Given the description of an element on the screen output the (x, y) to click on. 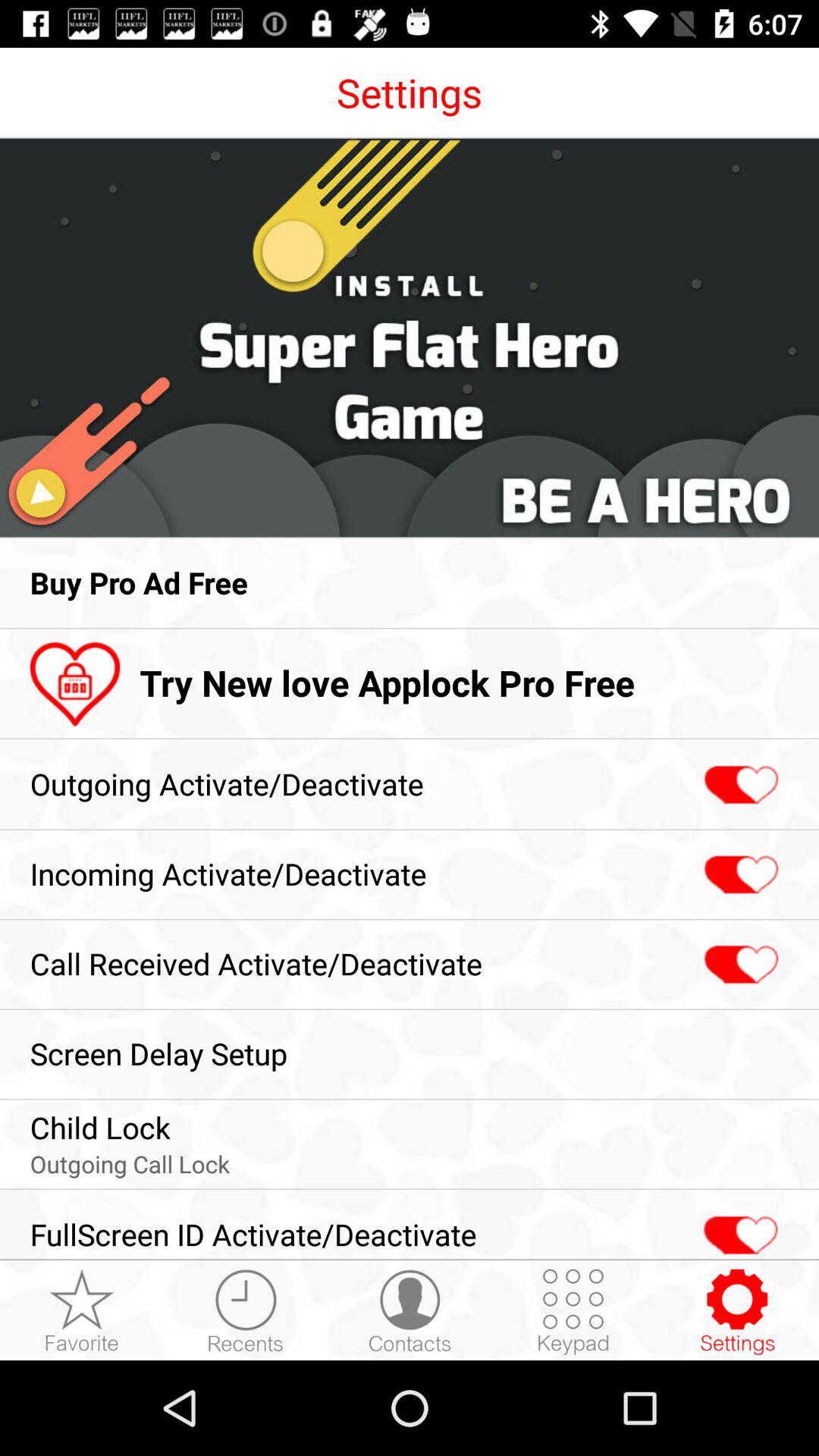
open the keypad (573, 1311)
